Given the description of an element on the screen output the (x, y) to click on. 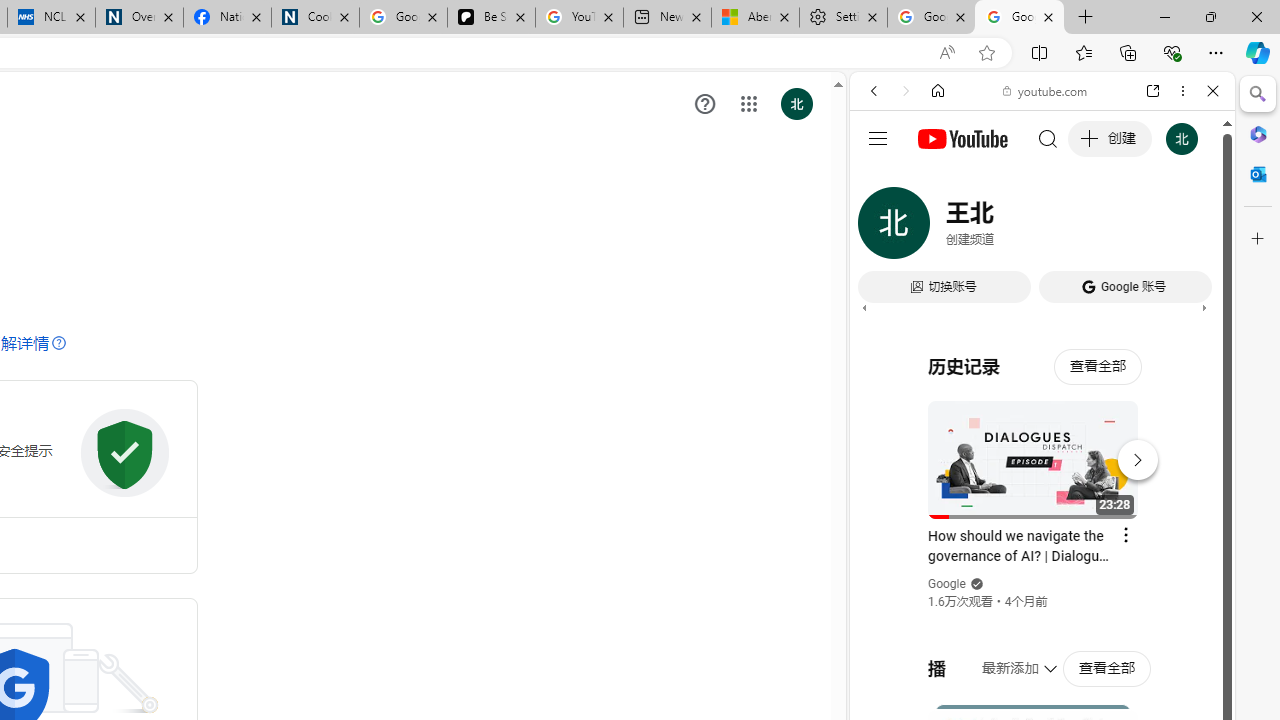
Class: gb_E (749, 103)
Aberdeen, Hong Kong SAR hourly forecast | Microsoft Weather (754, 17)
youtube.com (1046, 90)
